Given the description of an element on the screen output the (x, y) to click on. 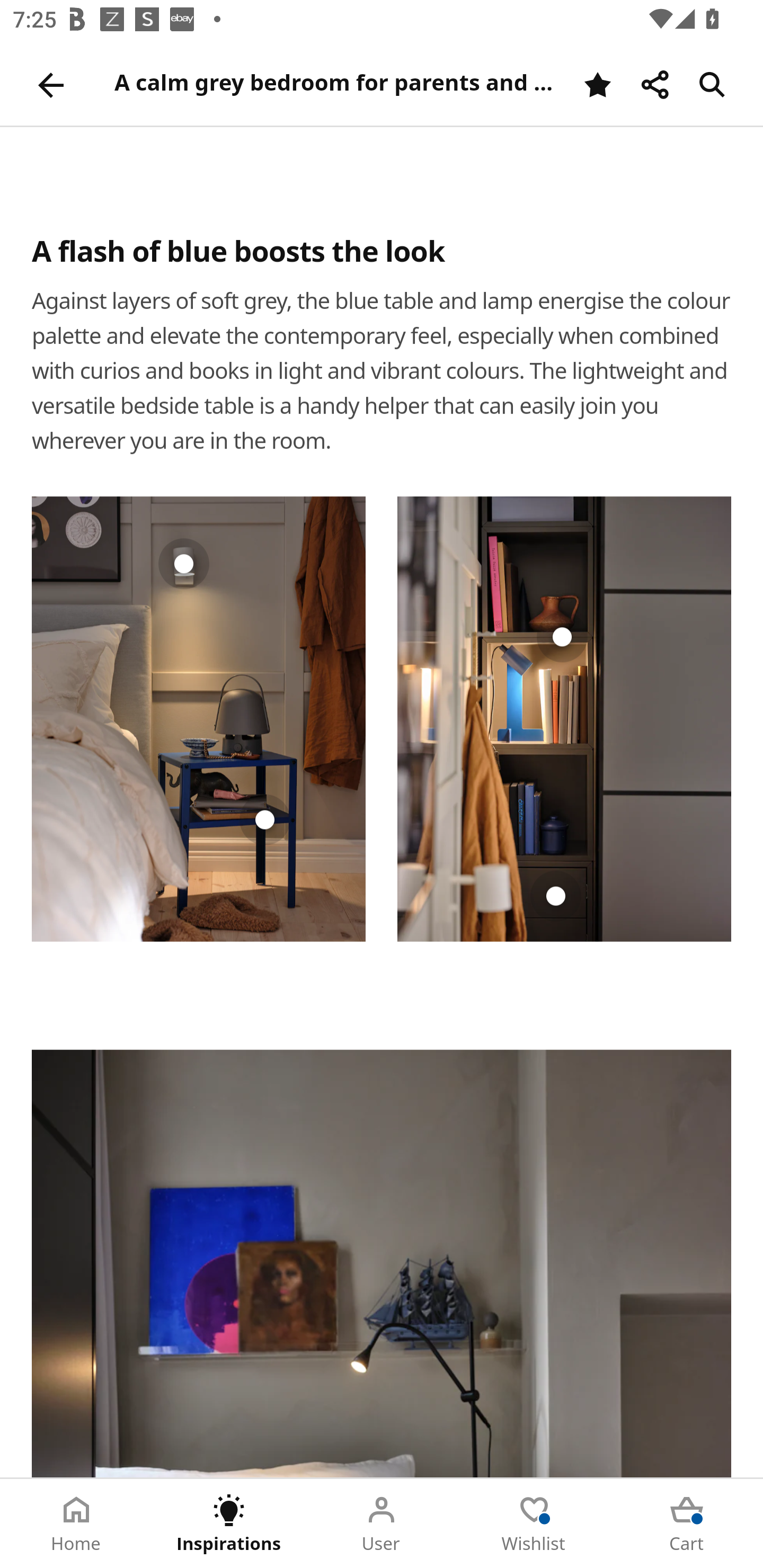
Home
Tab 1 of 5 (76, 1522)
Inspirations
Tab 2 of 5 (228, 1522)
User
Tab 3 of 5 (381, 1522)
Wishlist
Tab 4 of 5 (533, 1522)
Cart
Tab 5 of 5 (686, 1522)
